Given the description of an element on the screen output the (x, y) to click on. 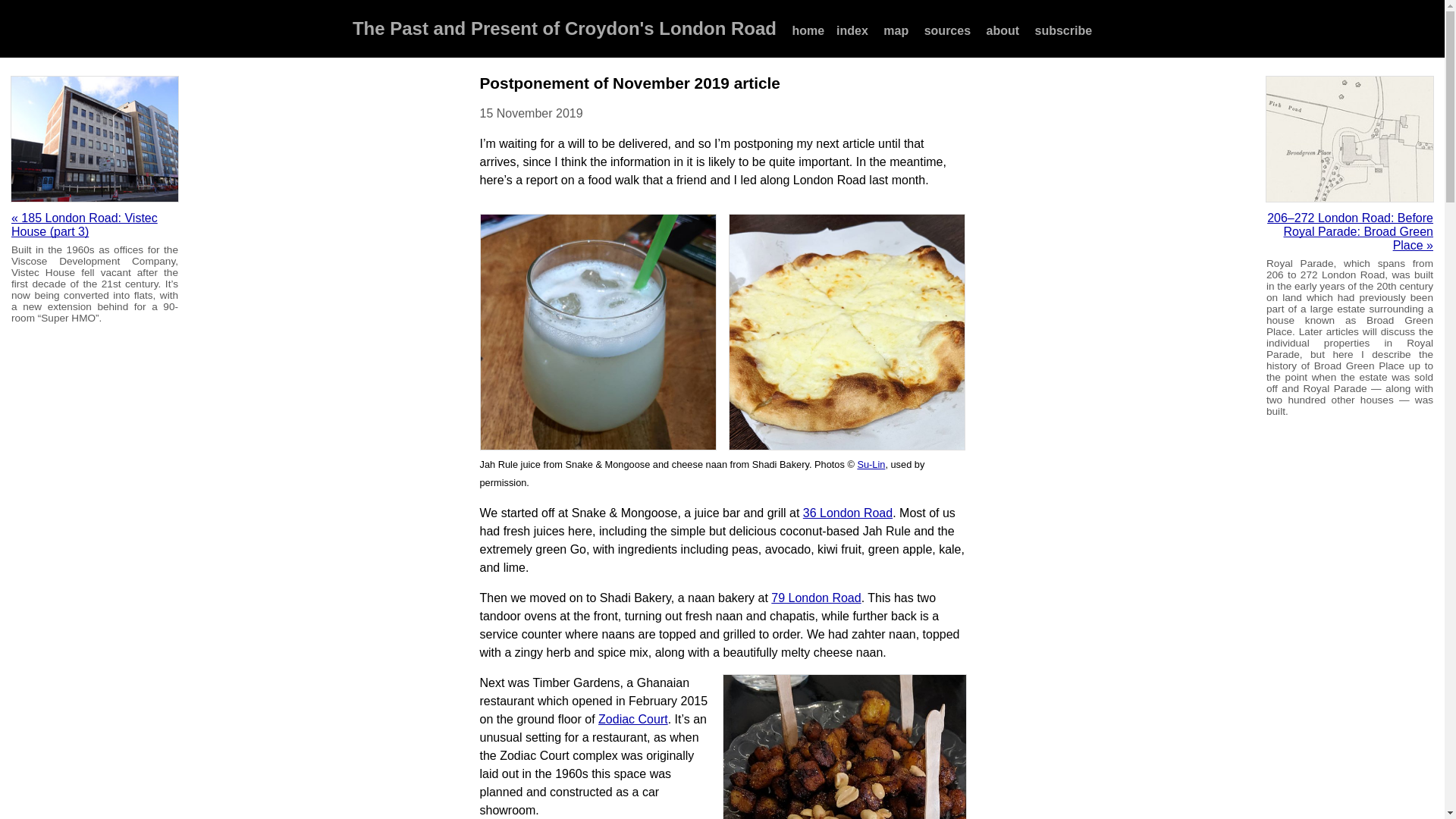
Next article (1349, 231)
map (895, 36)
Zodiac Court (633, 718)
subscribe (1064, 36)
The Past and Present of Croydon's London Road (564, 28)
home (808, 36)
index (851, 36)
Previous article (84, 224)
about (1003, 36)
36 London Road (847, 512)
sources (947, 36)
Su-Lin (871, 464)
79 London Road (815, 597)
